Given the description of an element on the screen output the (x, y) to click on. 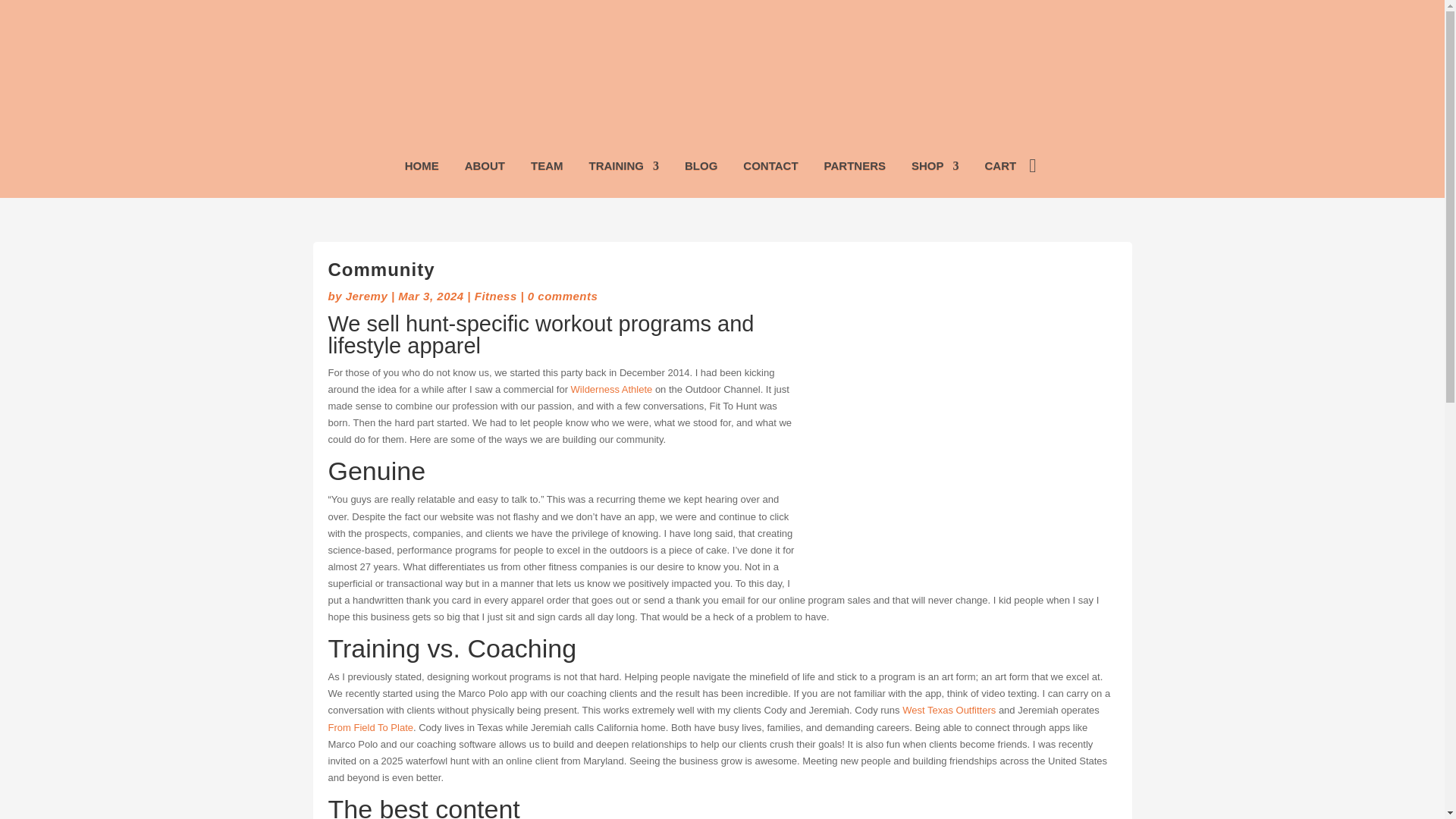
0 comments (562, 295)
SHOP (935, 168)
ABOUT (484, 168)
HOME (421, 168)
Posts by Jeremy (367, 295)
Fitness (495, 295)
CONTACT (769, 168)
Jeremy (367, 295)
TRAINING (624, 168)
West Texas Outfitters (948, 709)
From Field To Plate (369, 727)
CART (1000, 168)
Wilderness Athlete (611, 389)
BLOG (700, 168)
PARTNERS (854, 168)
